Given the description of an element on the screen output the (x, y) to click on. 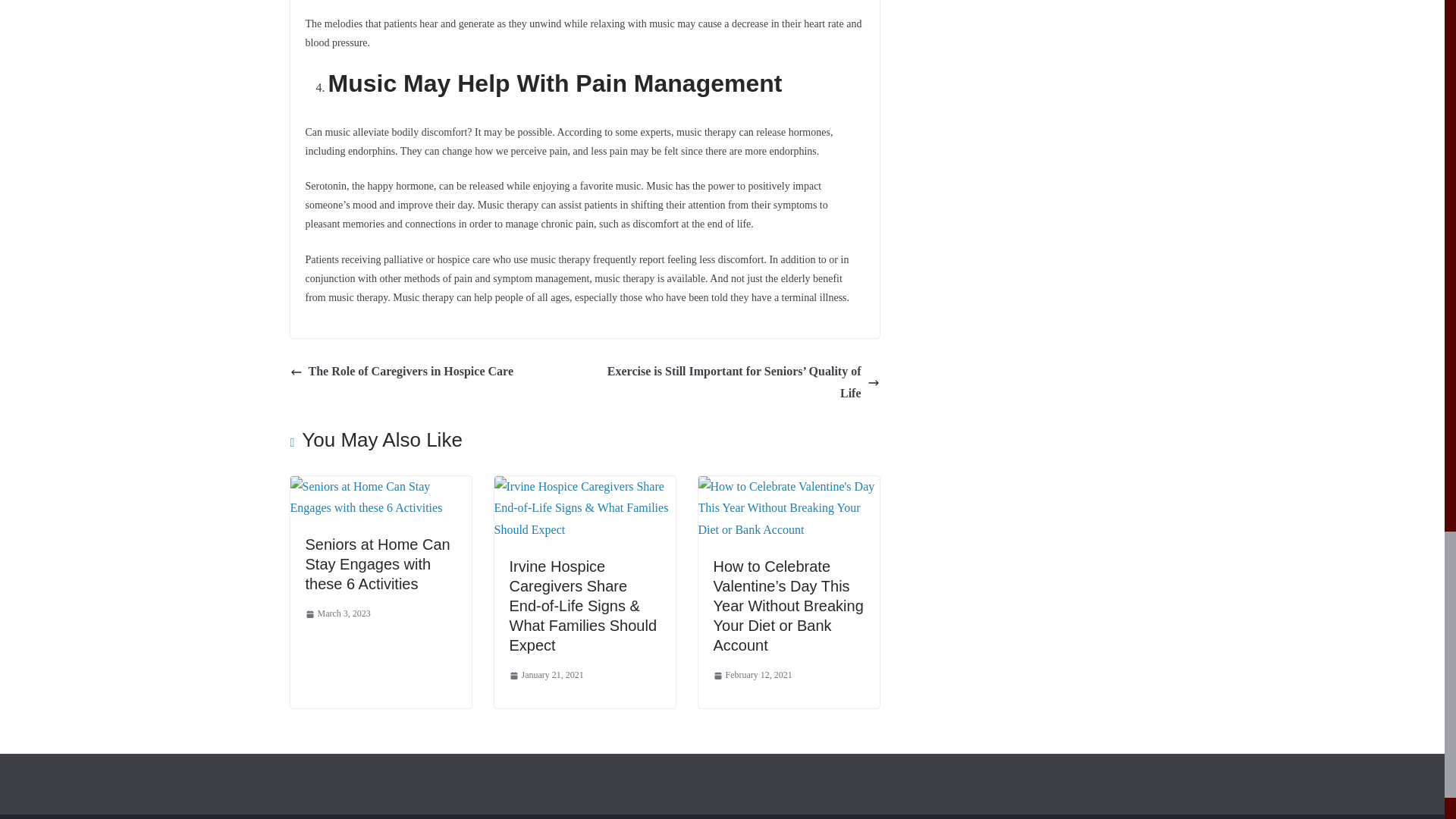
The Role of Caregivers in Hospice Care (400, 372)
January 21, 2021 (546, 675)
Seniors at Home Can Stay Engages with these 6 Activities (379, 486)
Seniors at Home Can Stay Engages with these 6 Activities (376, 564)
March 3, 2023 (336, 614)
7:00 am (546, 675)
Seniors at Home Can Stay Engages with these 6 Activities (376, 564)
10:00 am (336, 614)
